Given the description of an element on the screen output the (x, y) to click on. 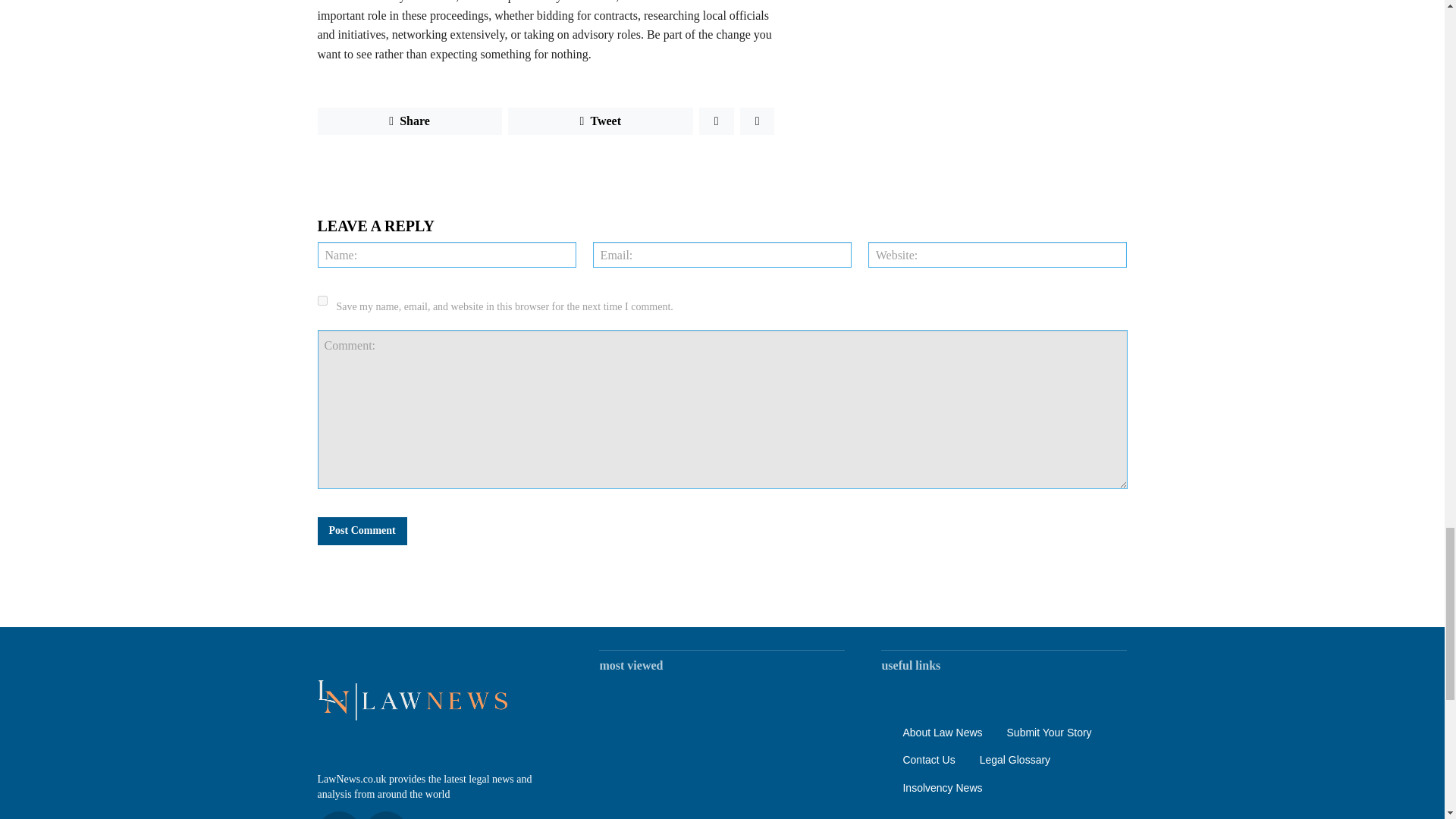
Post Comment (361, 530)
yes (321, 300)
